Given the description of an element on the screen output the (x, y) to click on. 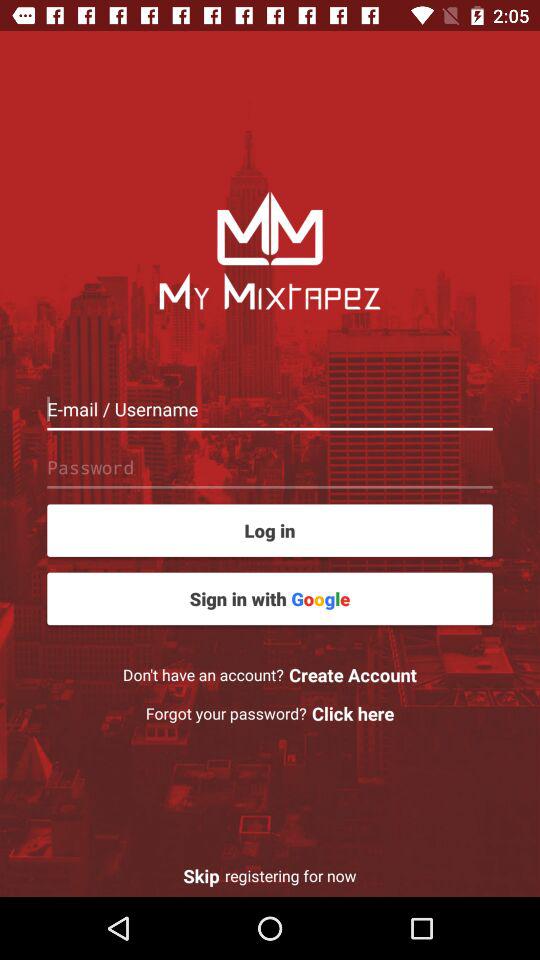
password coloumn (270, 467)
